Given the description of an element on the screen output the (x, y) to click on. 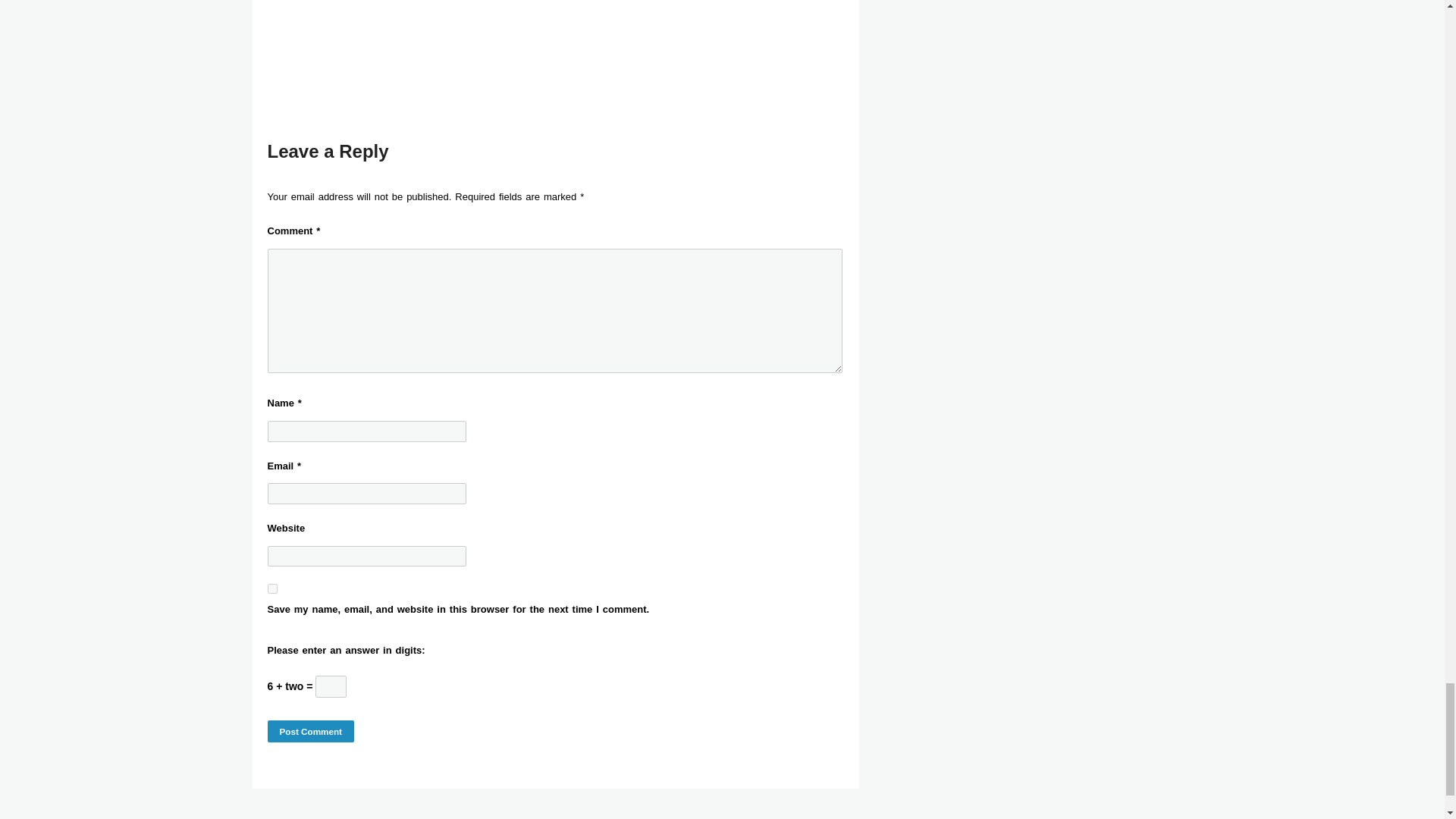
Post Comment (309, 731)
yes (271, 588)
Post Comment (309, 731)
